Given the description of an element on the screen output the (x, y) to click on. 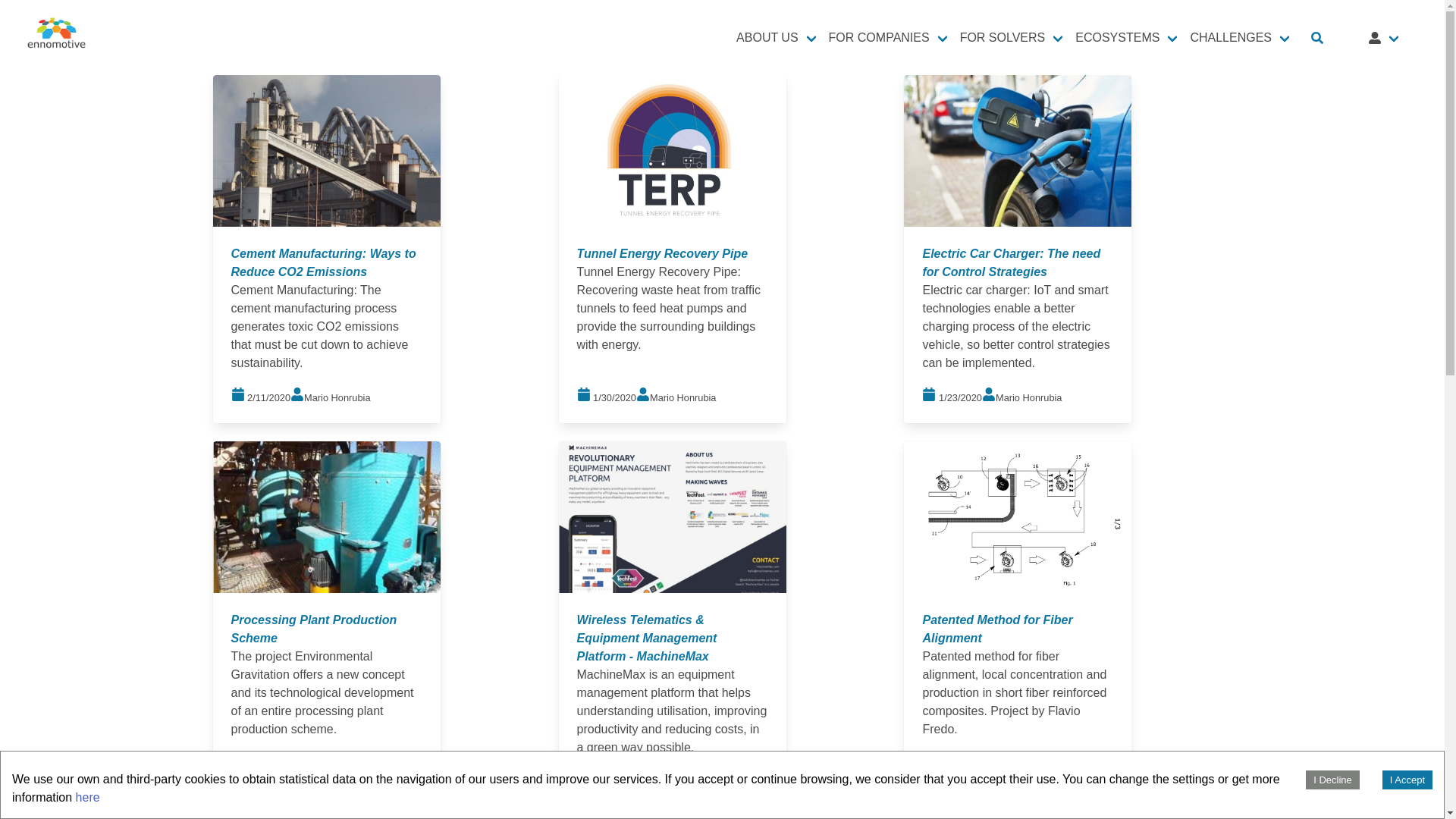
Patented Method for Fiber Alignment (996, 628)
I Decline (1332, 779)
Electric Car Charger: The need for Control Strategies (1010, 262)
Processing Plant Production Scheme (314, 628)
Cement Manufacturing: Ways to Reduce CO2 Emissions (323, 262)
Tunnel Energy Recovery Pipe (662, 253)
here (87, 797)
I Accept (1406, 779)
